Given the description of an element on the screen output the (x, y) to click on. 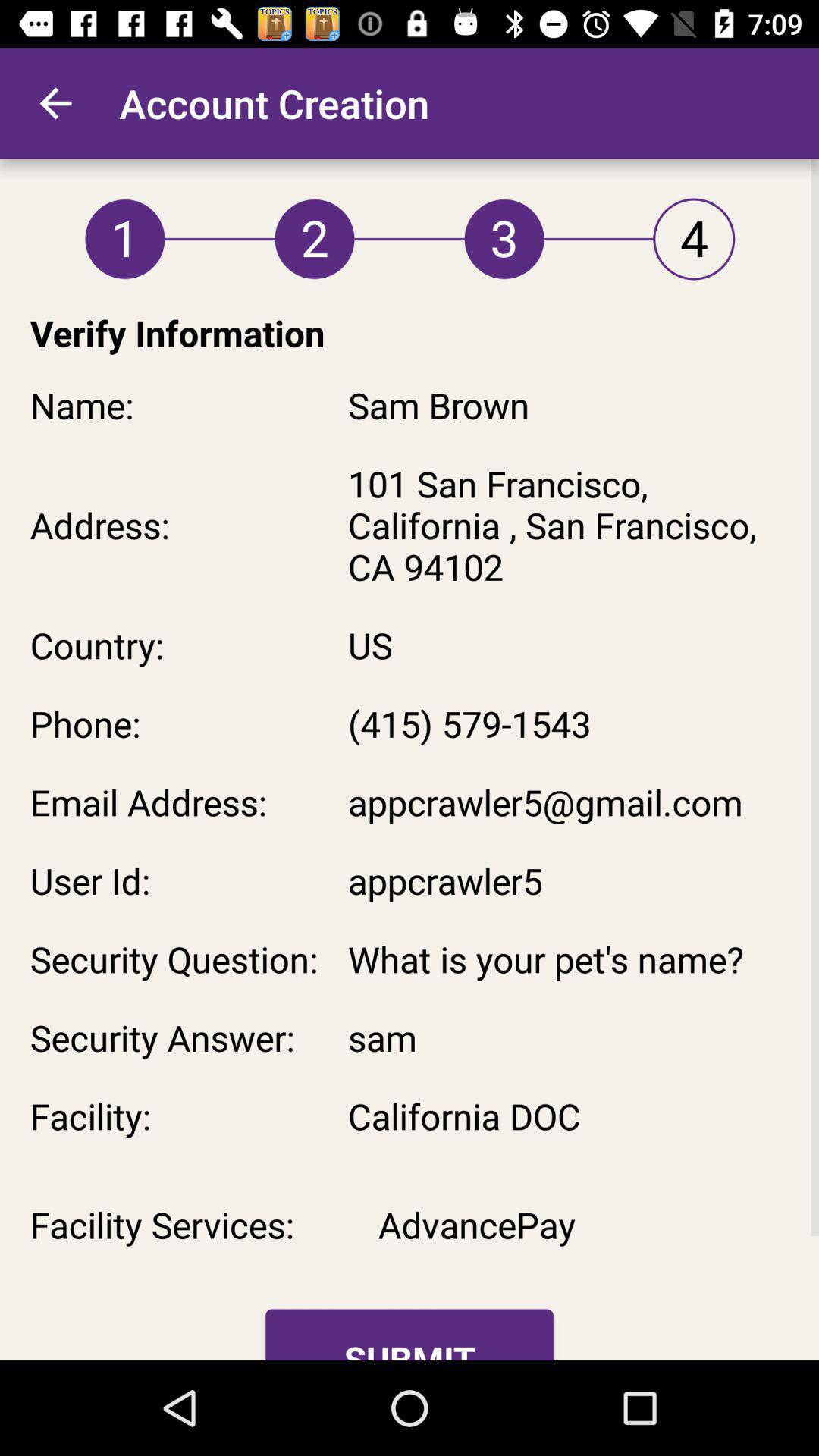
turn on the icon below the facility services: (409, 1334)
